Given the description of an element on the screen output the (x, y) to click on. 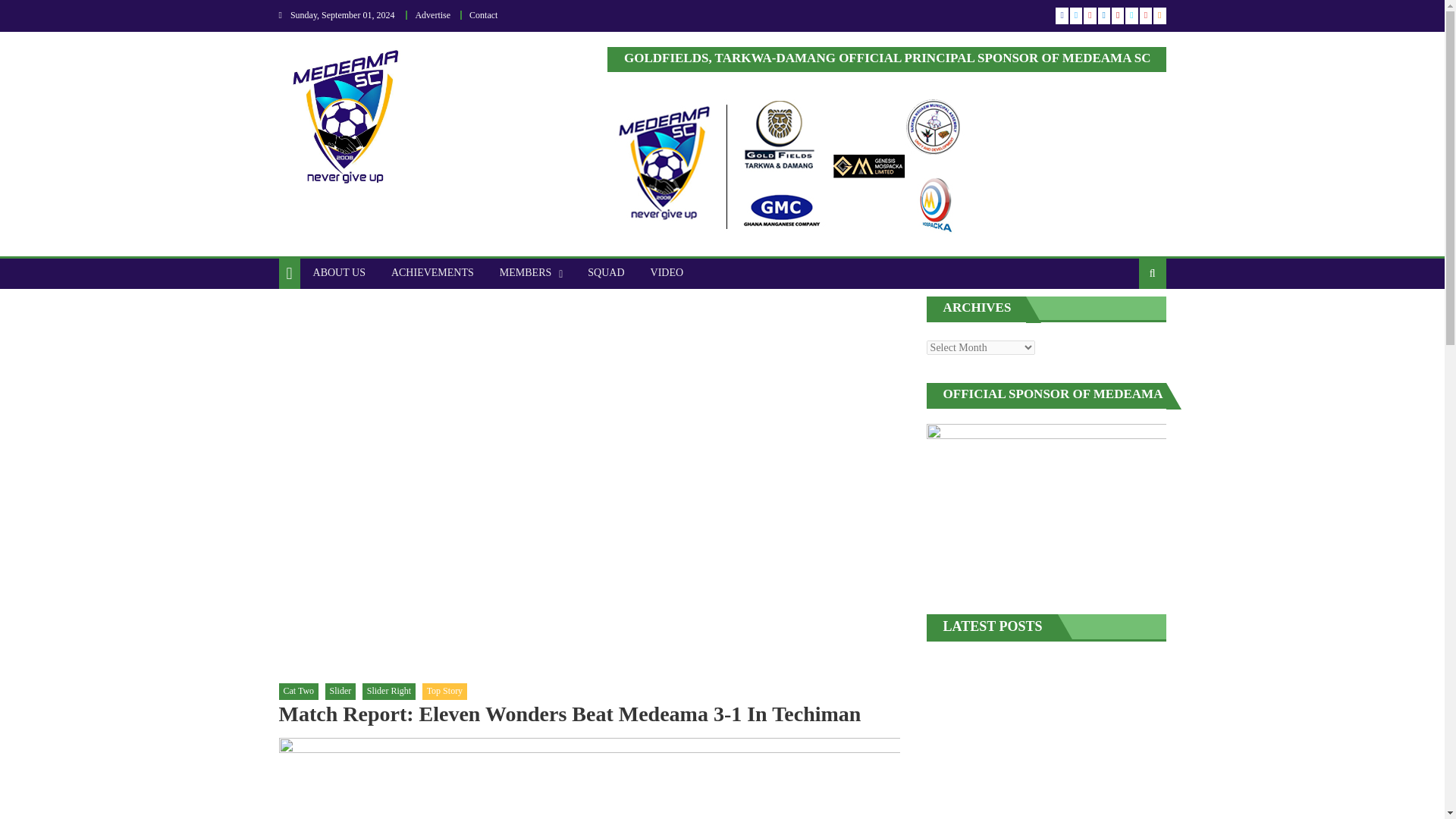
LATEST POSTS (992, 626)
Search (1128, 322)
ABOUT US (339, 272)
VIDEO (667, 272)
Cat Two (298, 691)
Slider Right (388, 691)
MEMBERS (524, 272)
SQUAD (605, 272)
Top Story (444, 691)
Official Sponsor of Medeama (1046, 506)
